Given the description of an element on the screen output the (x, y) to click on. 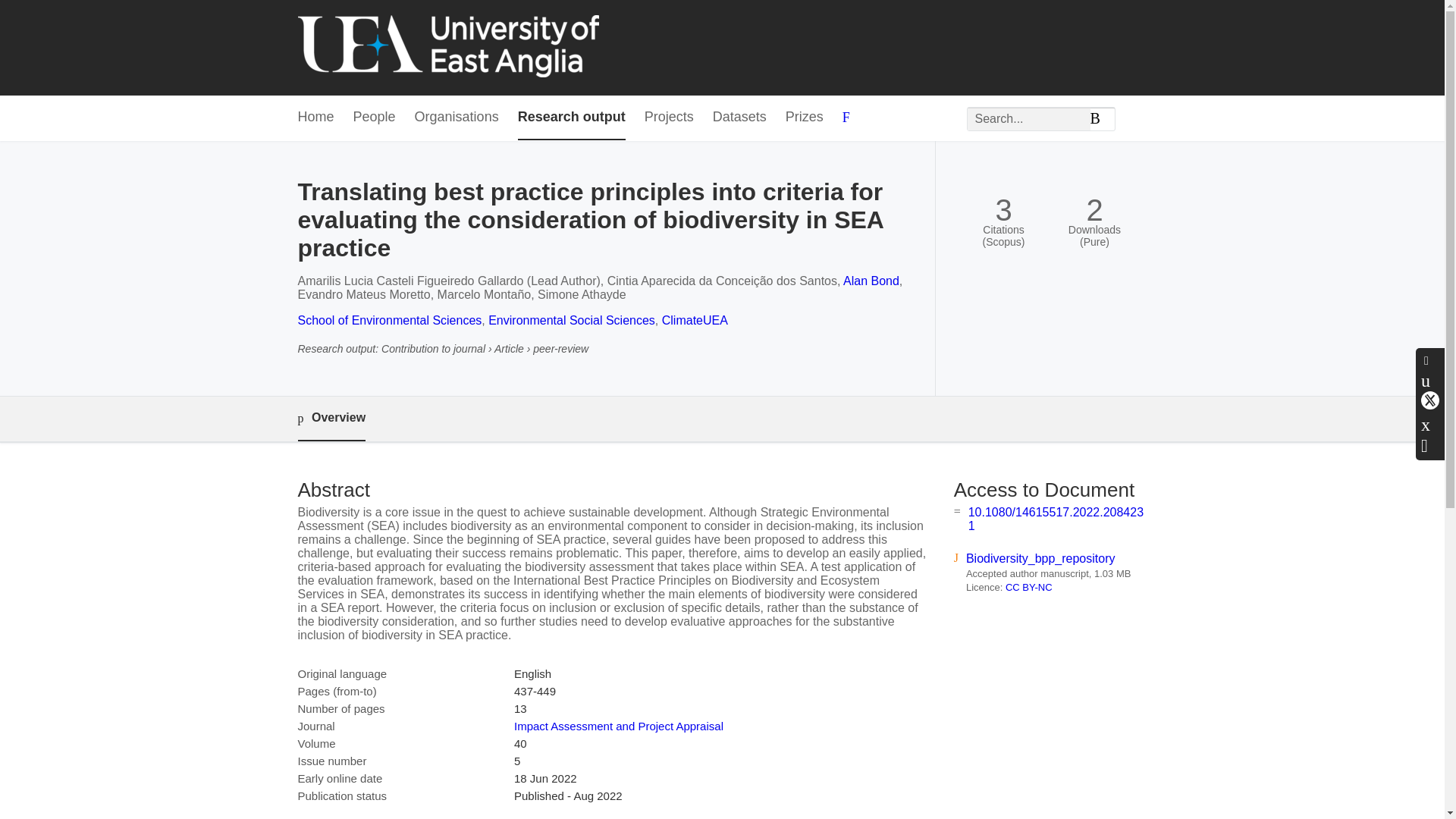
Overview (331, 418)
Environmental Social Sciences (571, 319)
ClimateUEA (695, 319)
Datasets (740, 117)
Projects (669, 117)
School of Environmental Sciences (389, 319)
Research output (572, 117)
Impact Assessment and Project Appraisal (618, 725)
University of East Anglia Home (447, 47)
CC BY-NC (1029, 586)
Organisations (456, 117)
Alan Bond (871, 280)
People (374, 117)
